Given the description of an element on the screen output the (x, y) to click on. 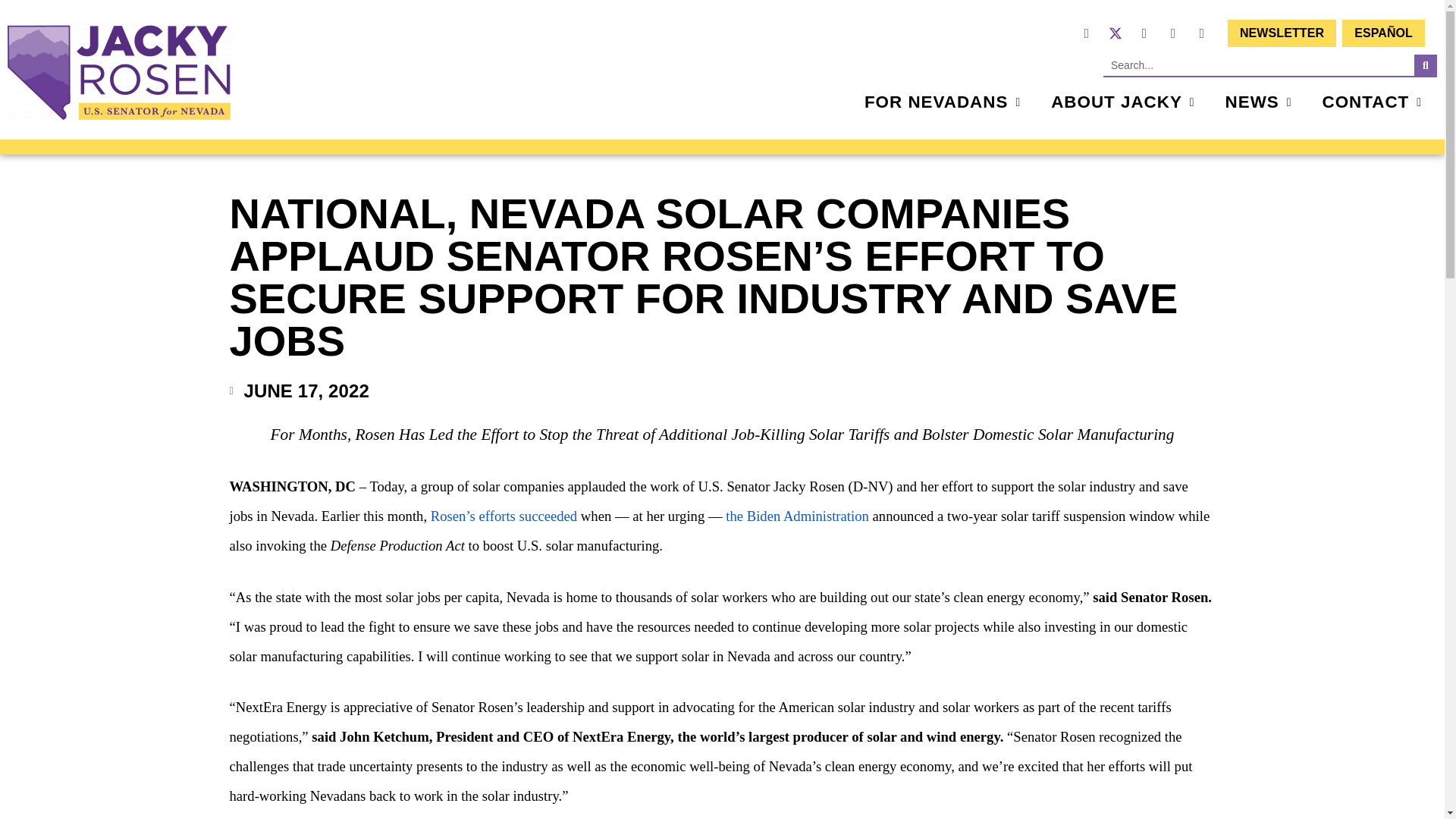
NEWS (1258, 102)
FOR NEVADANS (941, 102)
ABOUT JACKY (1122, 102)
